Given the description of an element on the screen output the (x, y) to click on. 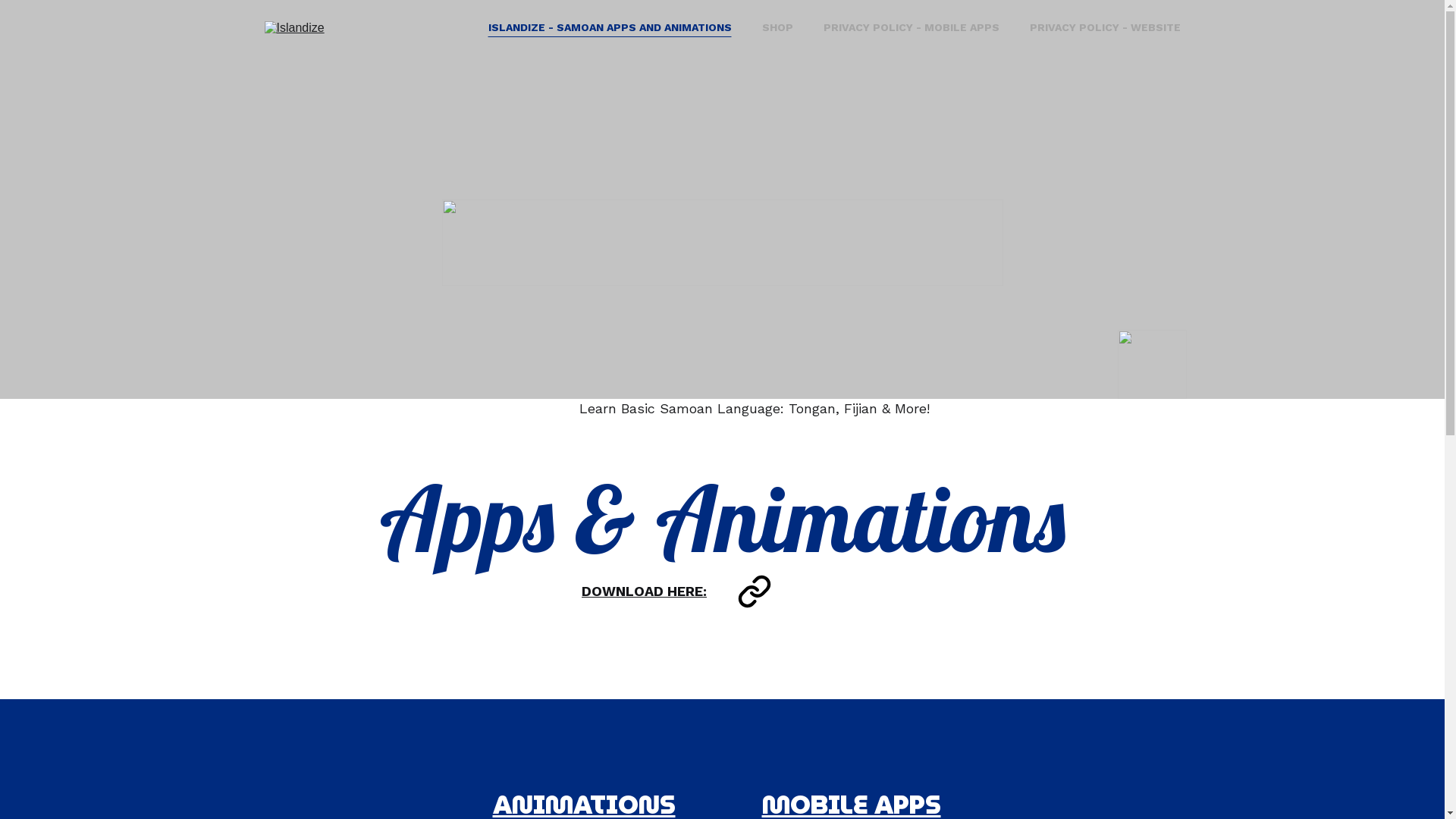
Go to  page Element type: hover (754, 591)
SHOP Element type: text (776, 27)
ISLANDIZE - SAMOAN APPS AND ANIMATIONS Element type: text (609, 27)
PRIVACY POLICY - MOBILE APPS Element type: text (911, 27)
DOWNLOAD HERE: Element type: text (643, 591)
PRIVACY POLICY - WEBSITE Element type: text (1104, 27)
